Given the description of an element on the screen output the (x, y) to click on. 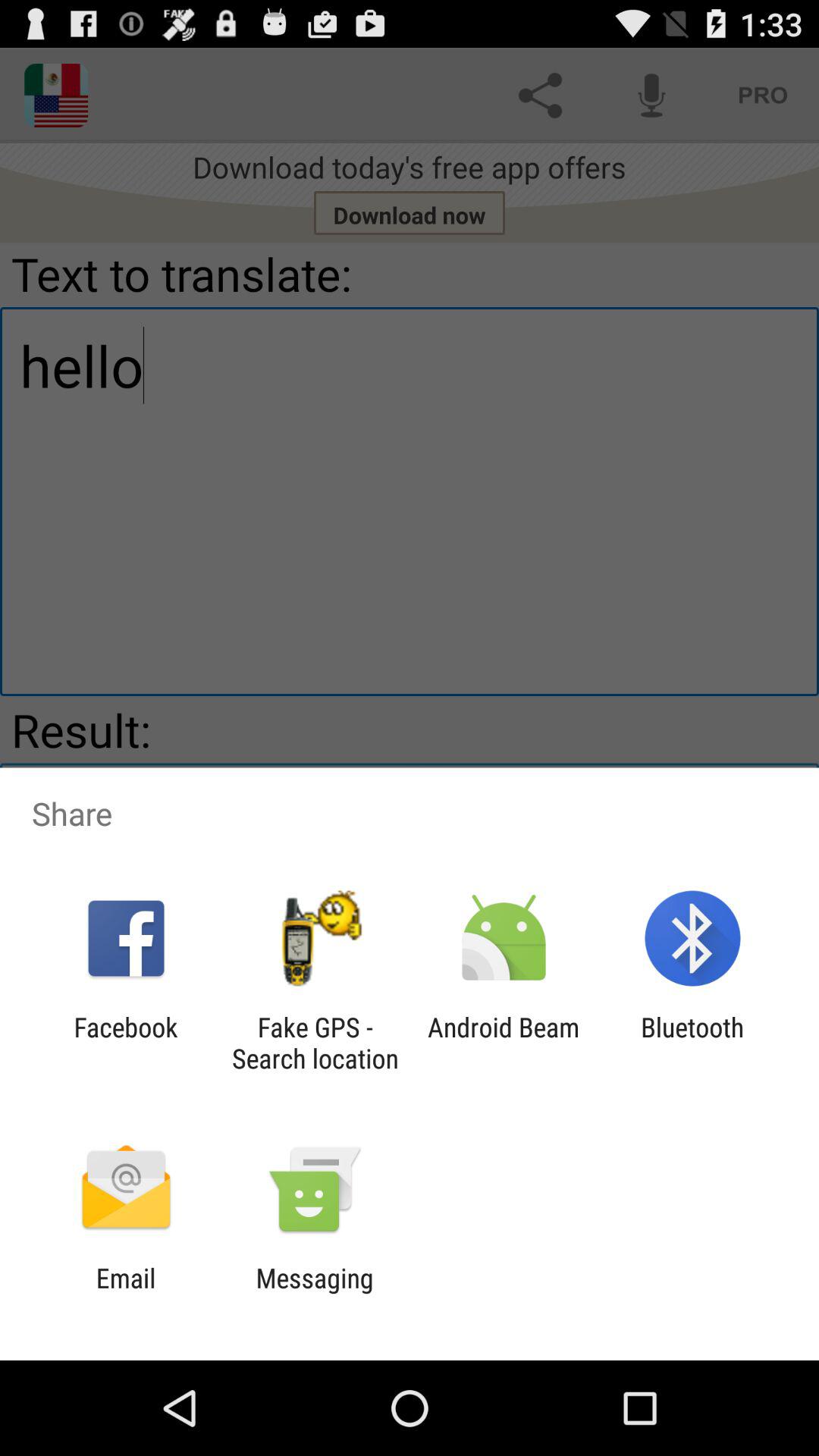
press icon to the left of bluetooth app (503, 1042)
